Given the description of an element on the screen output the (x, y) to click on. 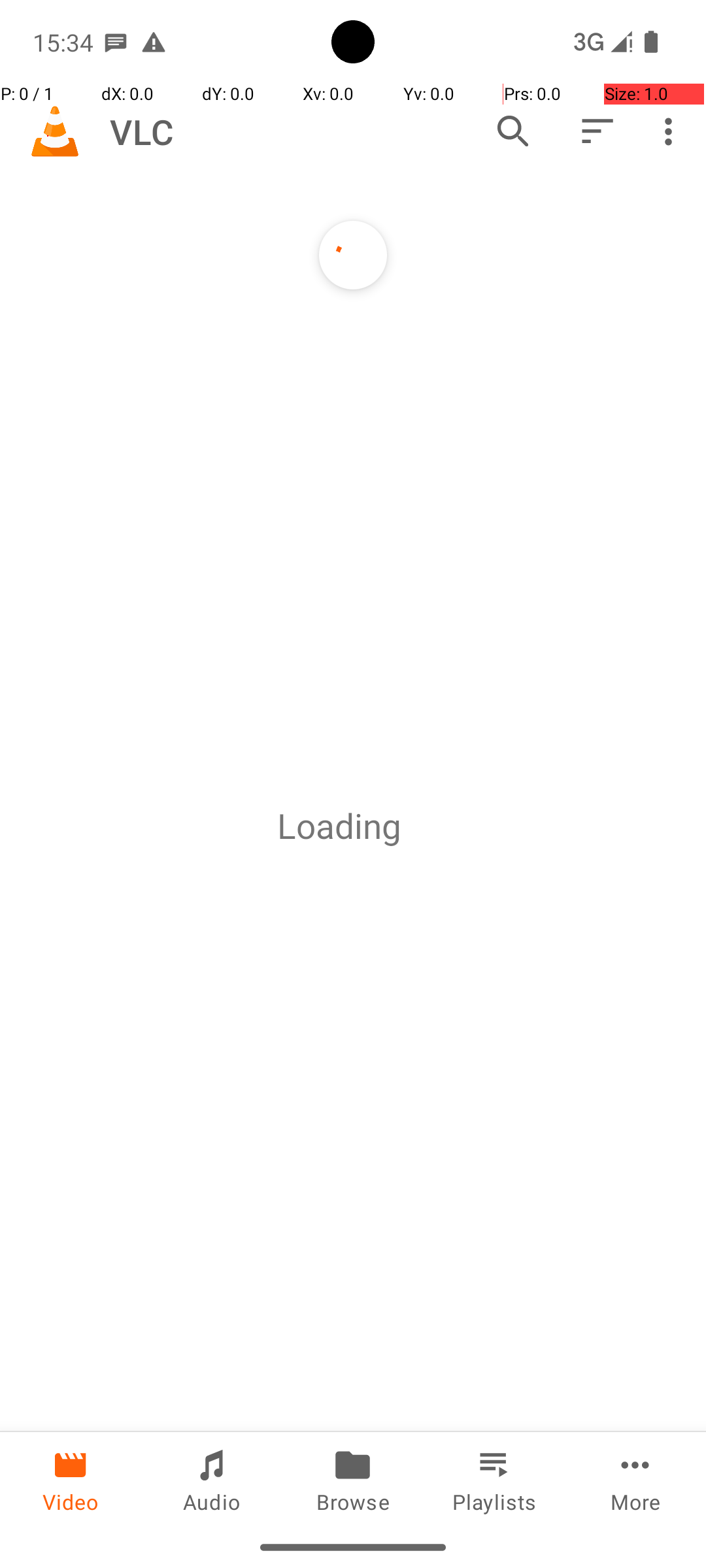
Sort by… Element type: android.widget.TextView (595, 131)
Loading Element type: android.widget.TextView (339, 825)
